Given the description of an element on the screen output the (x, y) to click on. 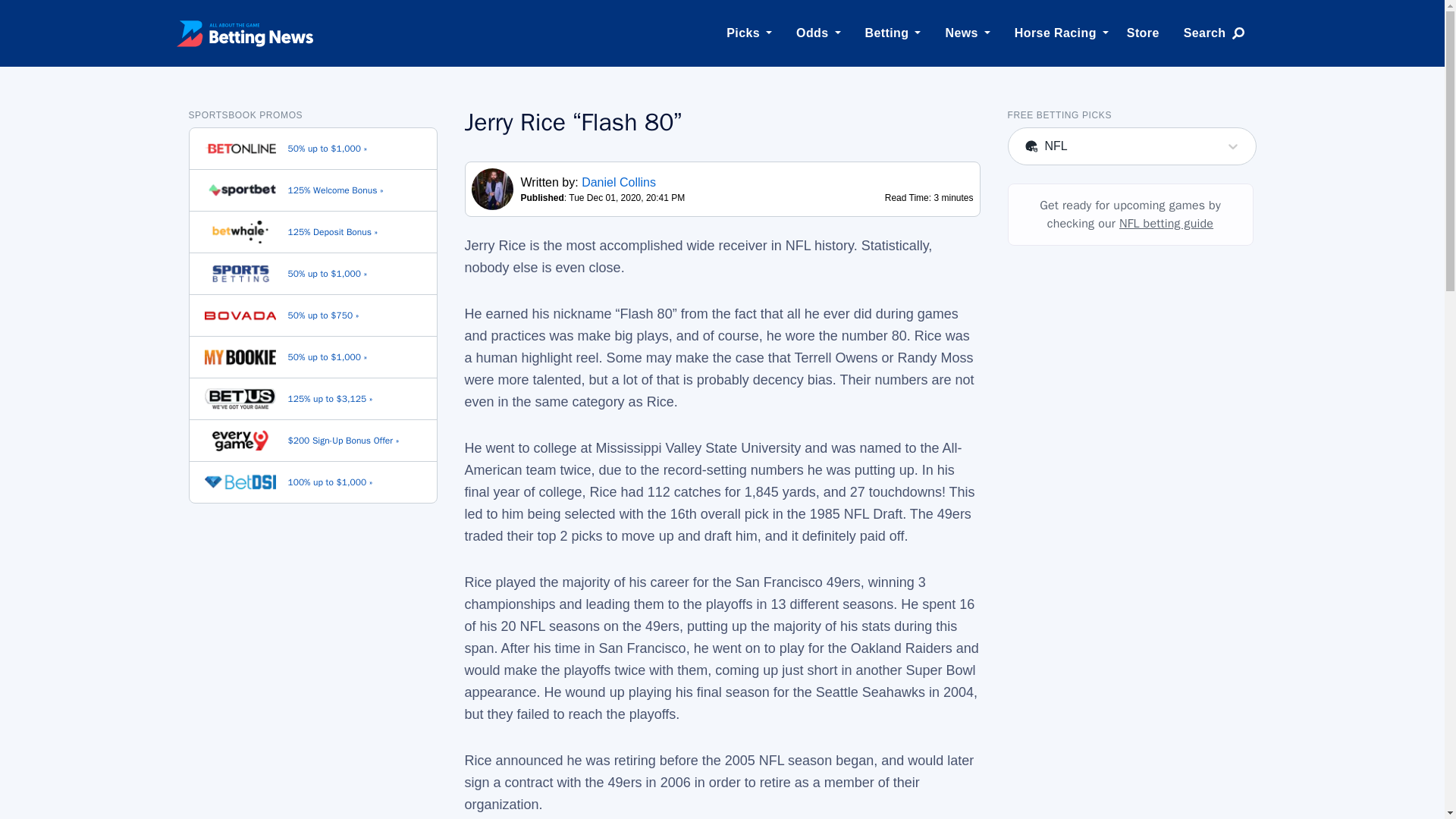
Betting (887, 33)
Betting News (244, 32)
Odds (812, 33)
Picks (742, 33)
